Given the description of an element on the screen output the (x, y) to click on. 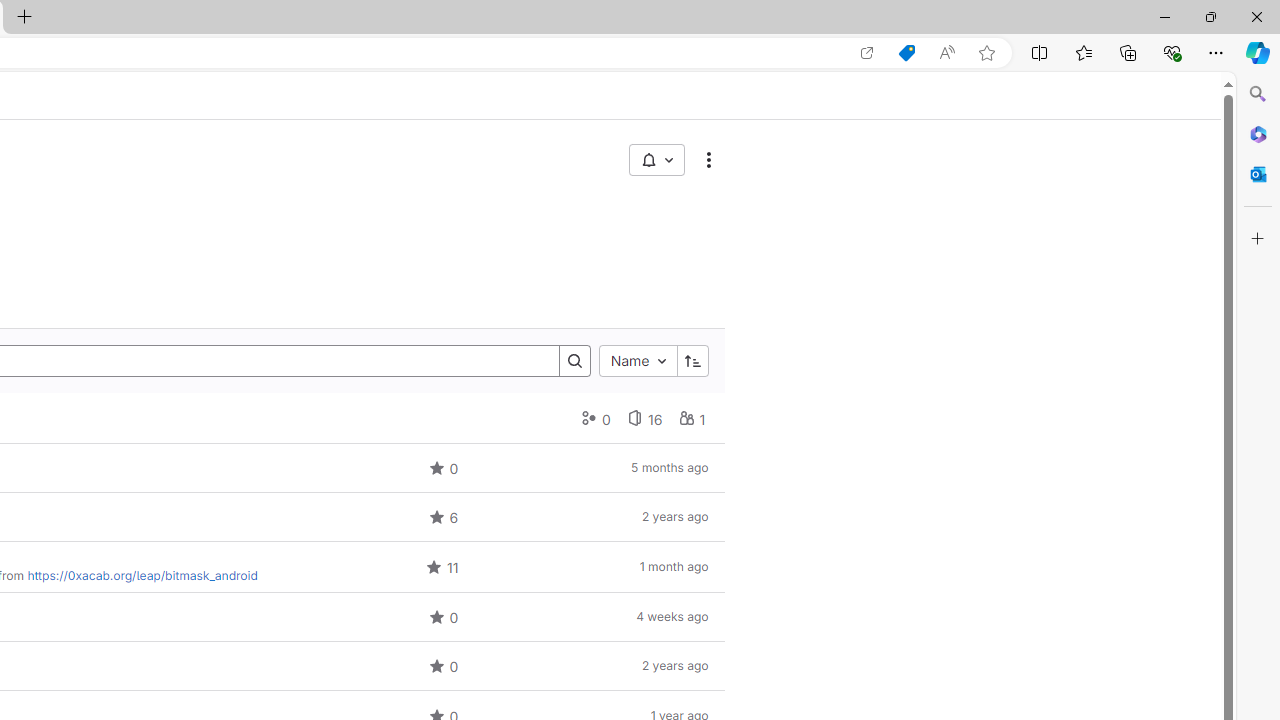
More actions (708, 159)
Sort direction: Ascending (692, 360)
https://0xacab.org/leap/bitmask_android (142, 575)
